Given the description of an element on the screen output the (x, y) to click on. 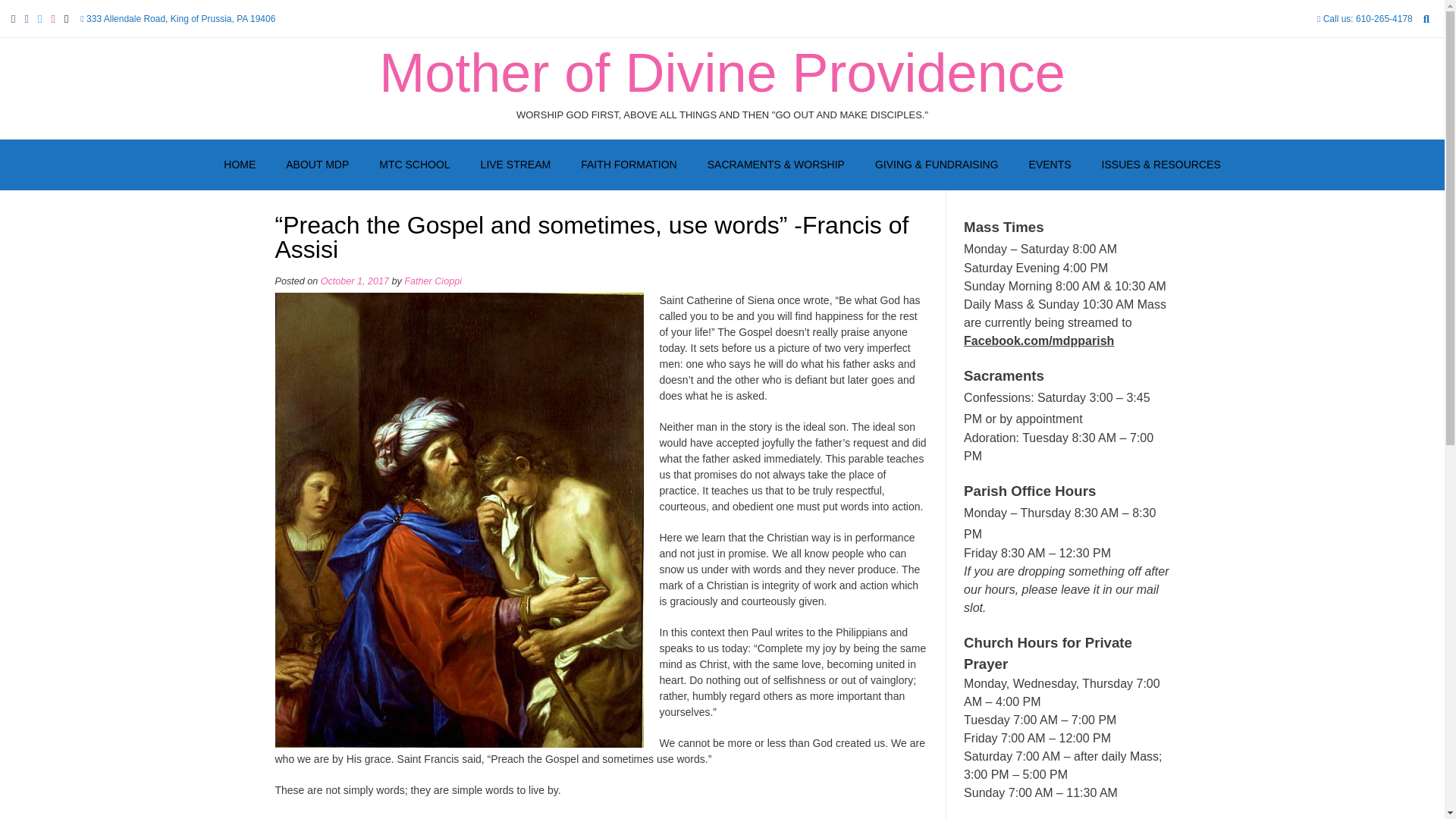
FAITH FORMATION (629, 165)
Mother of Divine Providence (721, 72)
MTC SCHOOL (414, 165)
ABOUT MDP (317, 165)
LIVE STREAM (515, 165)
HOME (239, 165)
Mother of Divine Providence (721, 72)
